Given the description of an element on the screen output the (x, y) to click on. 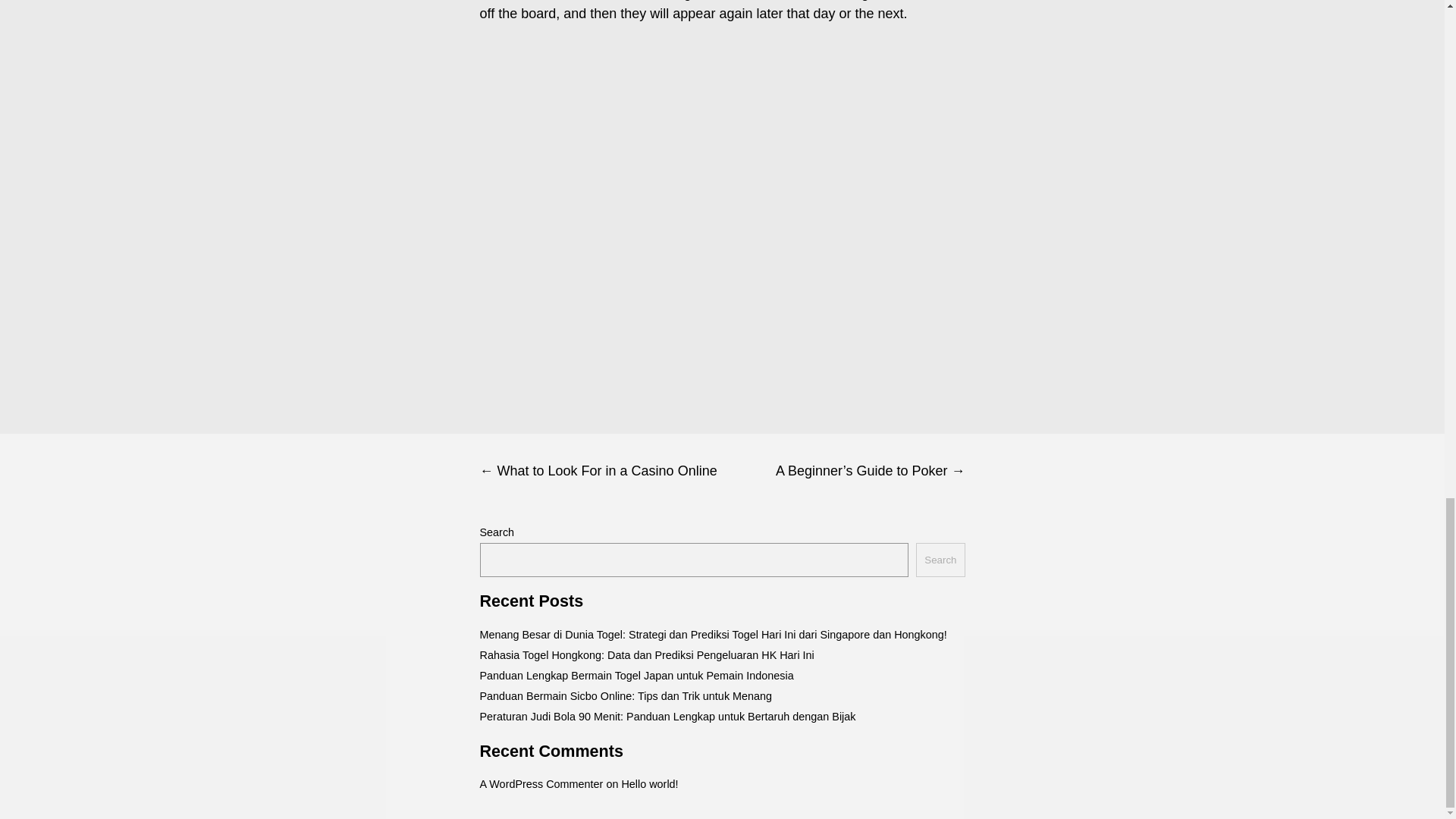
Panduan Lengkap Bermain Togel Japan untuk Pemain Indonesia (636, 675)
What to Look For in a Casino Online (600, 471)
A WordPress Commenter (540, 784)
Panduan Bermain Sicbo Online: Tips dan Trik untuk Menang (625, 695)
Search (939, 559)
Hello world! (649, 784)
